Given the description of an element on the screen output the (x, y) to click on. 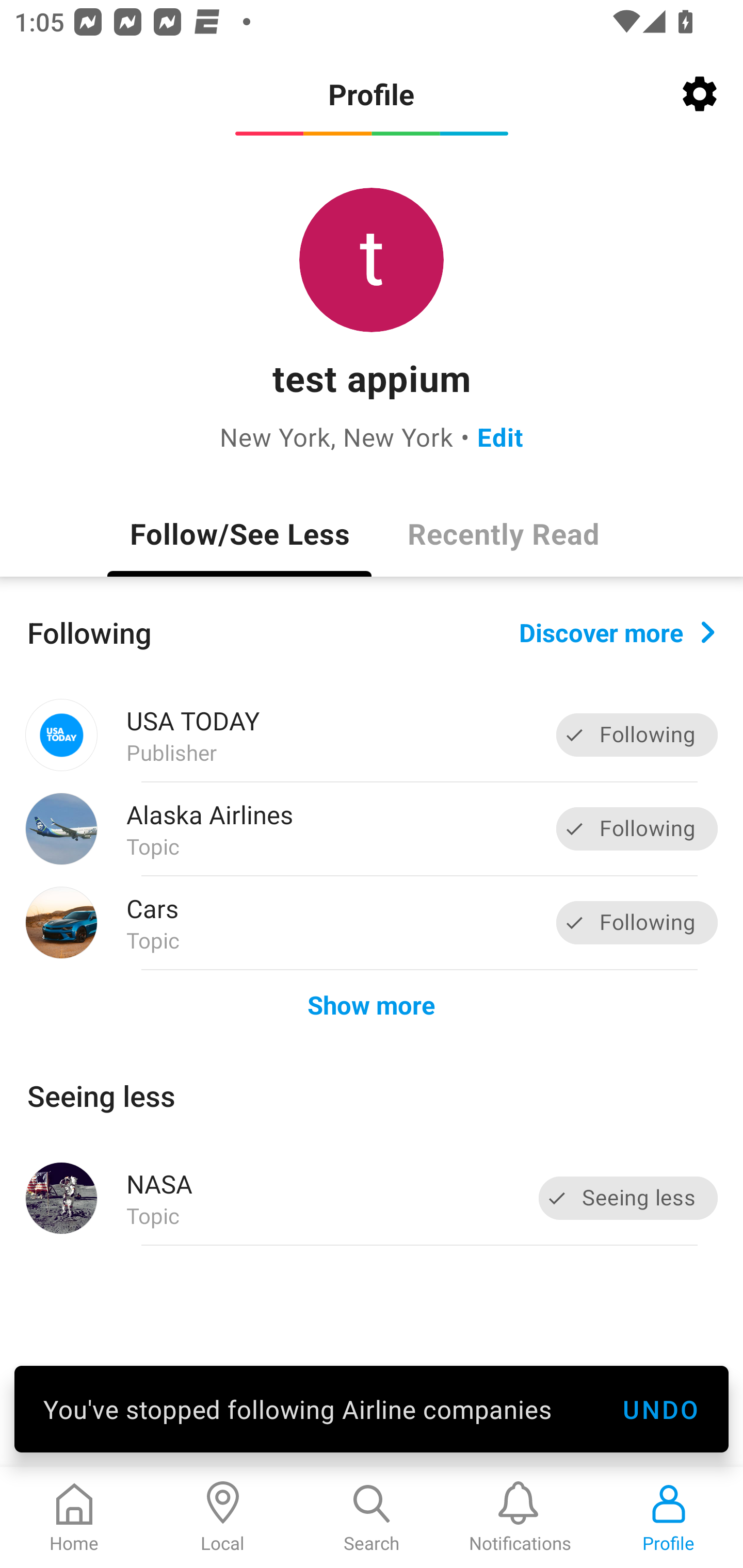
Settings (699, 93)
Edit (500, 436)
Recently Read (503, 533)
Discover more (617, 631)
USA TODAY Publisher Following (371, 735)
Following (636, 735)
Alaska Airlines Topic Following (371, 829)
Following (636, 828)
Cars Topic Following (371, 922)
Following (636, 922)
Show more (371, 1004)
NASA Topic Seeing less (371, 1197)
Seeing less (627, 1197)
UNDO (660, 1408)
Home (74, 1517)
Local (222, 1517)
Search (371, 1517)
Notifications (519, 1517)
